Given the description of an element on the screen output the (x, y) to click on. 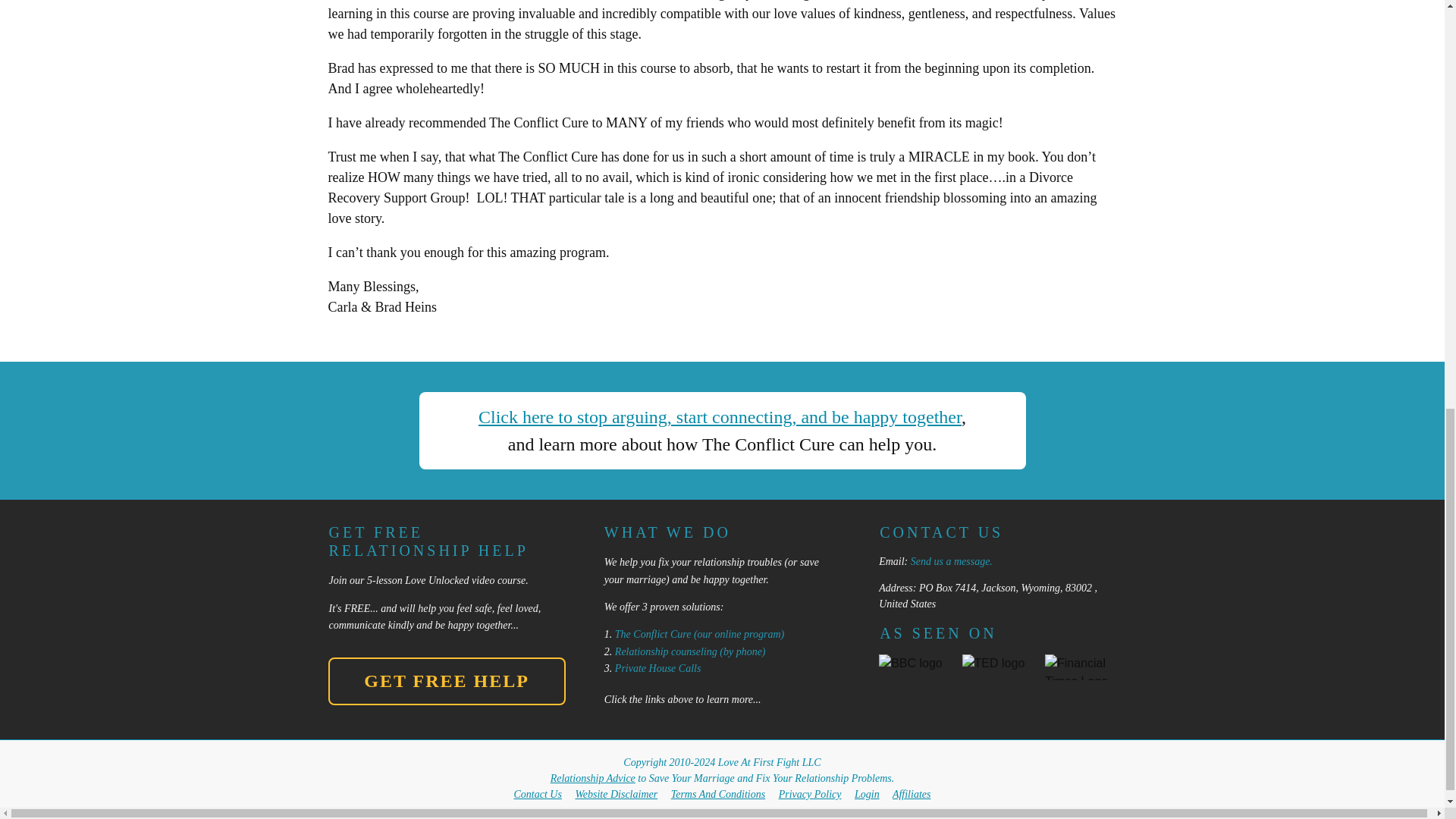
Private House Calls (657, 668)
logo-ted (997, 668)
Contact Us (537, 794)
logo-bbc (914, 666)
Relationship Advice (592, 778)
Affiliates (911, 794)
Login (866, 794)
logo-ft (1080, 667)
Privacy Policy (809, 794)
Send us a message. (951, 561)
